Given the description of an element on the screen output the (x, y) to click on. 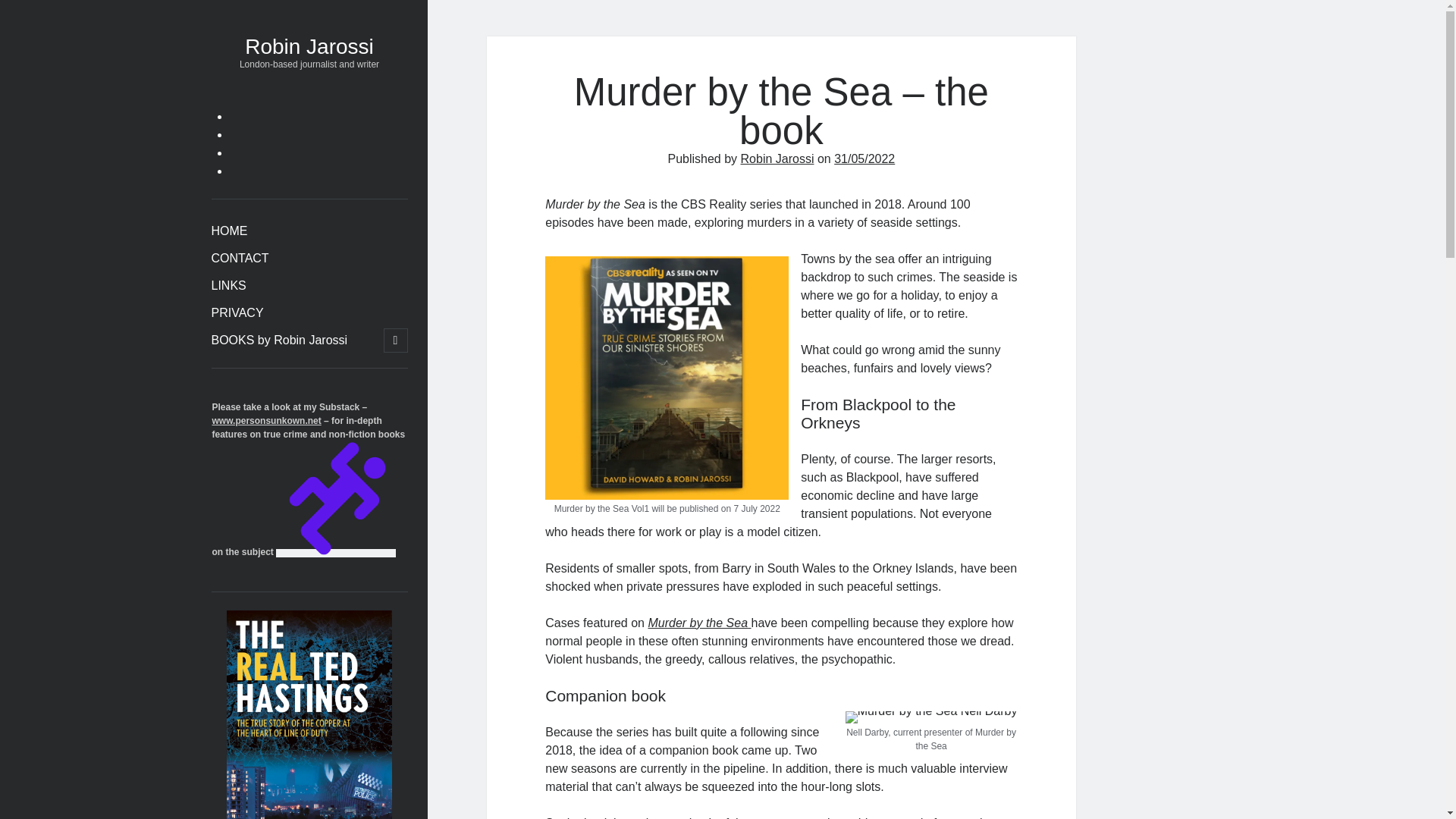
PRIVACY (735, 173)
Robin Jarossi (721, 76)
BOOKS BY ROBIN JAROSSI (867, 173)
CONTACT (590, 173)
www.personsunkown.net (1047, 739)
HOME (516, 173)
LINKS (663, 173)
